Given the description of an element on the screen output the (x, y) to click on. 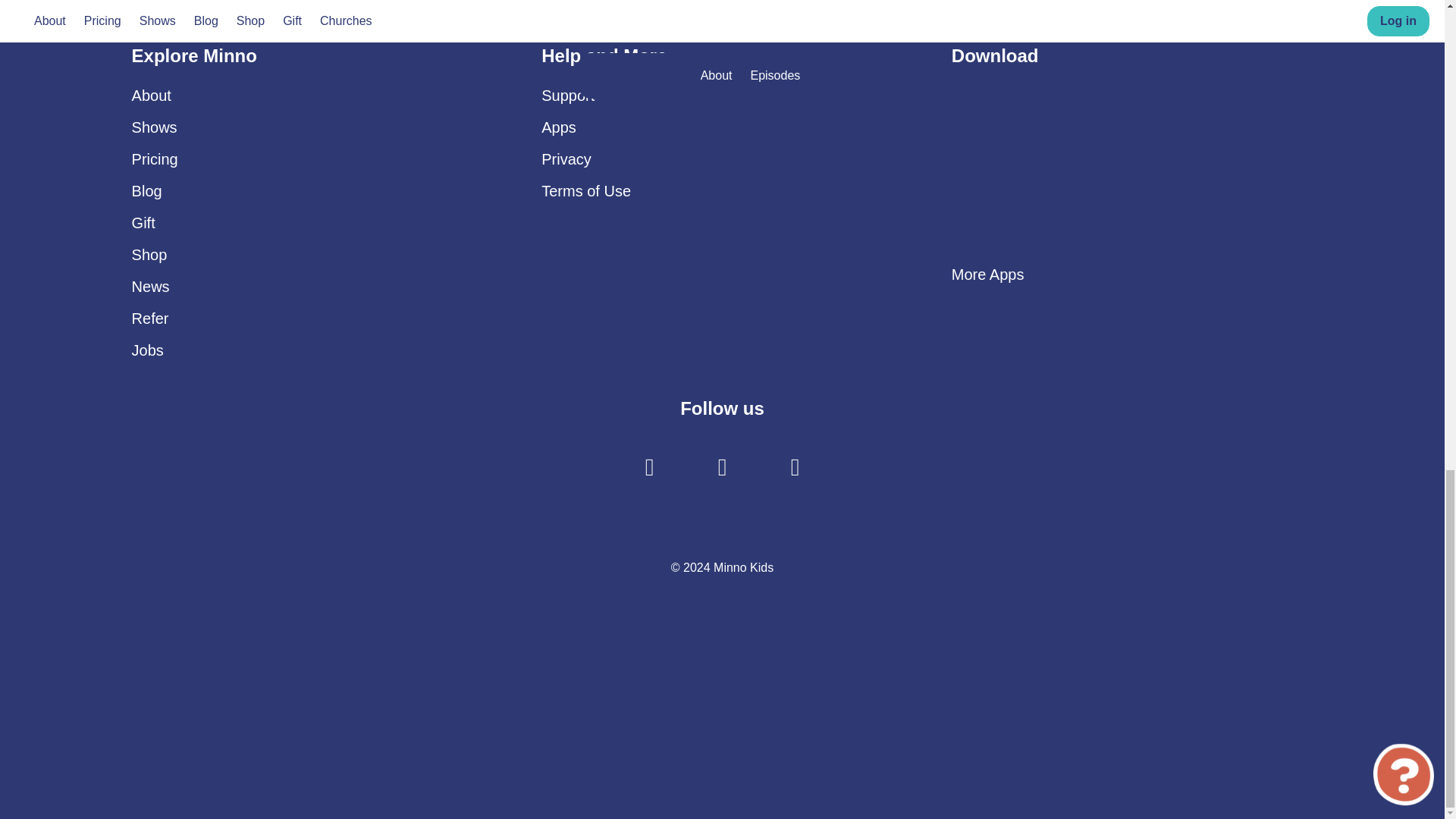
Jobs (147, 350)
Support (567, 95)
Terms of Use (585, 190)
Blog (146, 190)
More Apps (988, 274)
Shop (149, 254)
About (151, 95)
Privacy (566, 158)
Gift (143, 222)
Apps (558, 126)
